Given the description of an element on the screen output the (x, y) to click on. 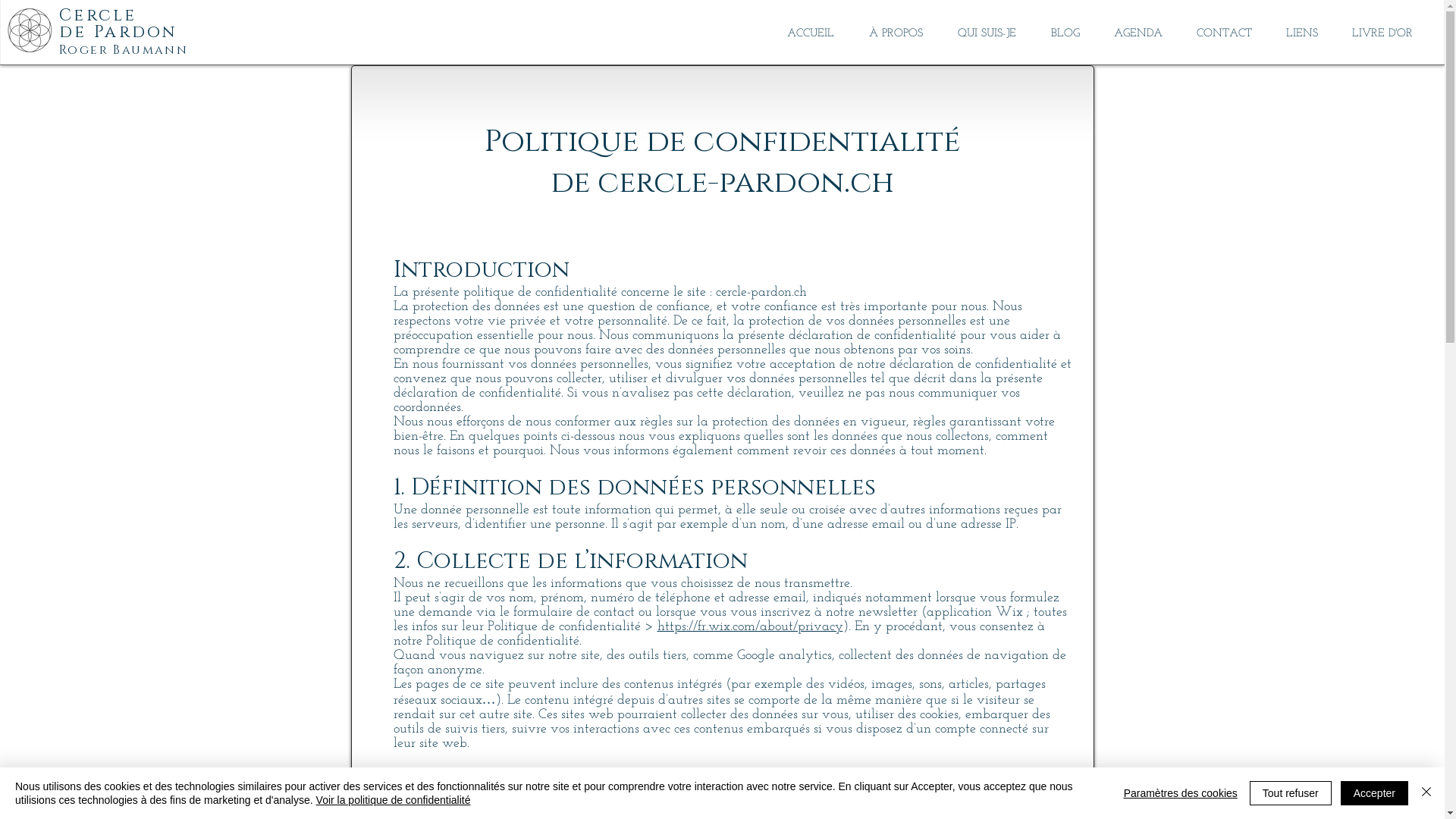
Pardon  Element type: text (139, 32)
ACCUEIL Element type: text (810, 33)
CONTACT Element type: text (1223, 33)
Tout refuser Element type: text (1290, 793)
BLOG Element type: text (1064, 33)
AGENDA Element type: text (1137, 33)
QUI SUIS-JE Element type: text (986, 33)
Cercle de  Element type: text (97, 23)
LIENS Element type: text (1301, 33)
Accepter Element type: text (1374, 793)
https://fr.wix.com/about/privacy Element type: text (749, 626)
LIVRE D'OR Element type: text (1381, 33)
